Given the description of an element on the screen output the (x, y) to click on. 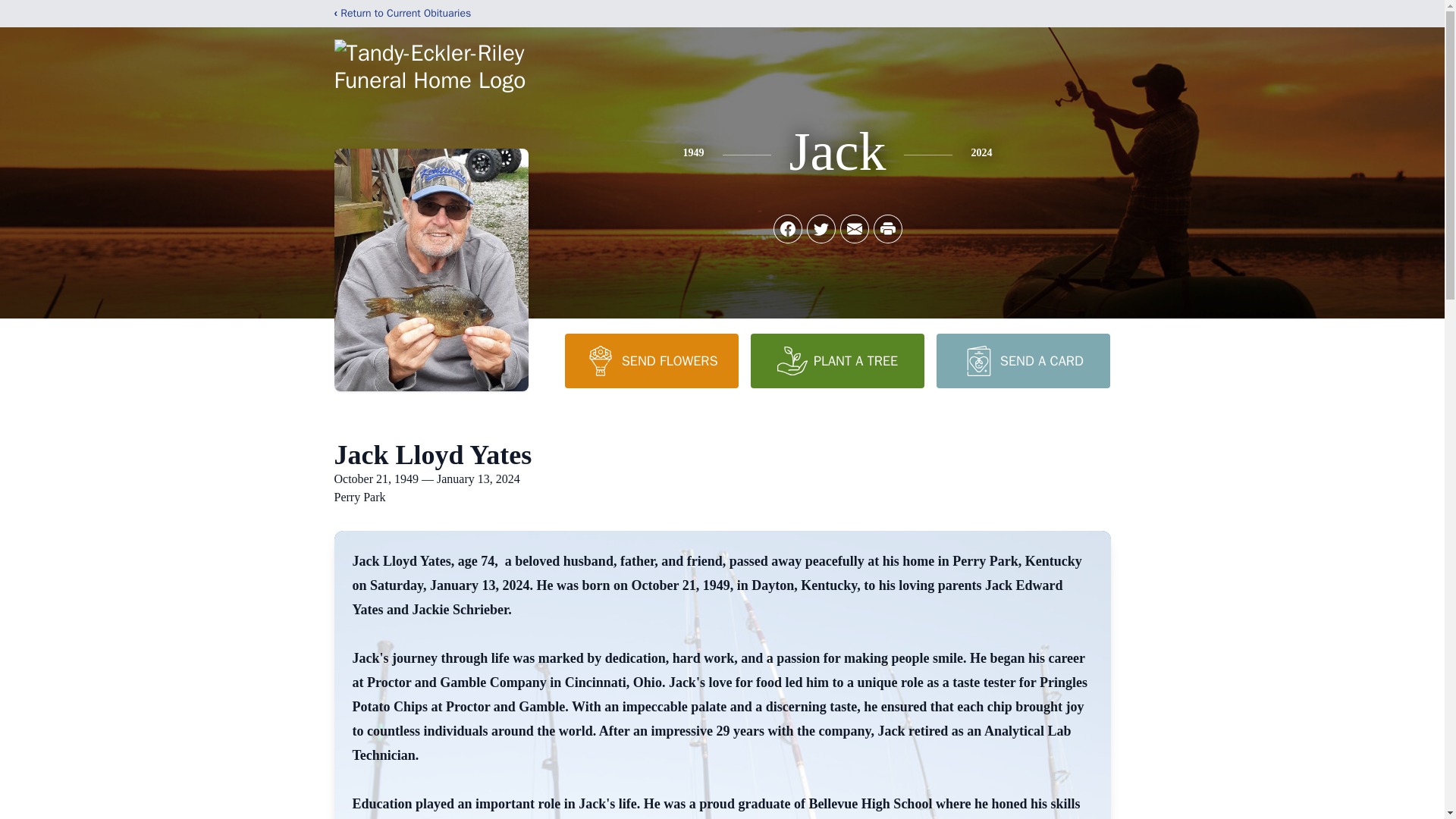
SEND FLOWERS (651, 360)
SEND A CARD (1022, 360)
PLANT A TREE (837, 360)
